Given the description of an element on the screen output the (x, y) to click on. 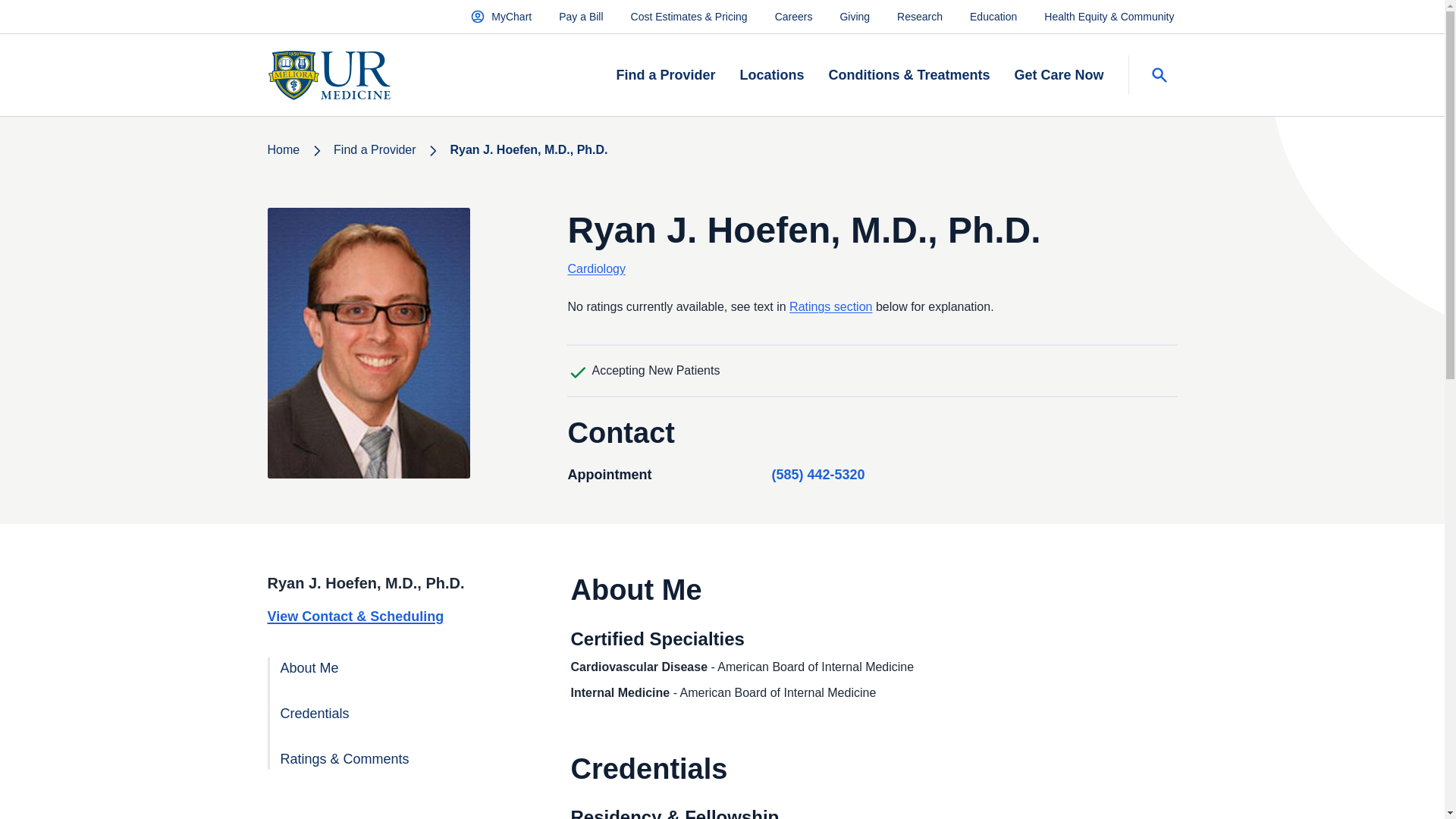
Get Care Now (1058, 76)
MyChart (500, 16)
Ratings section (830, 306)
Locations (771, 76)
Pay a Bill (580, 16)
Home (282, 149)
UR Medicine Logo Home (328, 75)
Giving (853, 16)
Find a Provider (374, 149)
Education (993, 16)
Careers (793, 16)
Research (918, 16)
Cardiology (595, 268)
Find a Provider (664, 76)
